Given the description of an element on the screen output the (x, y) to click on. 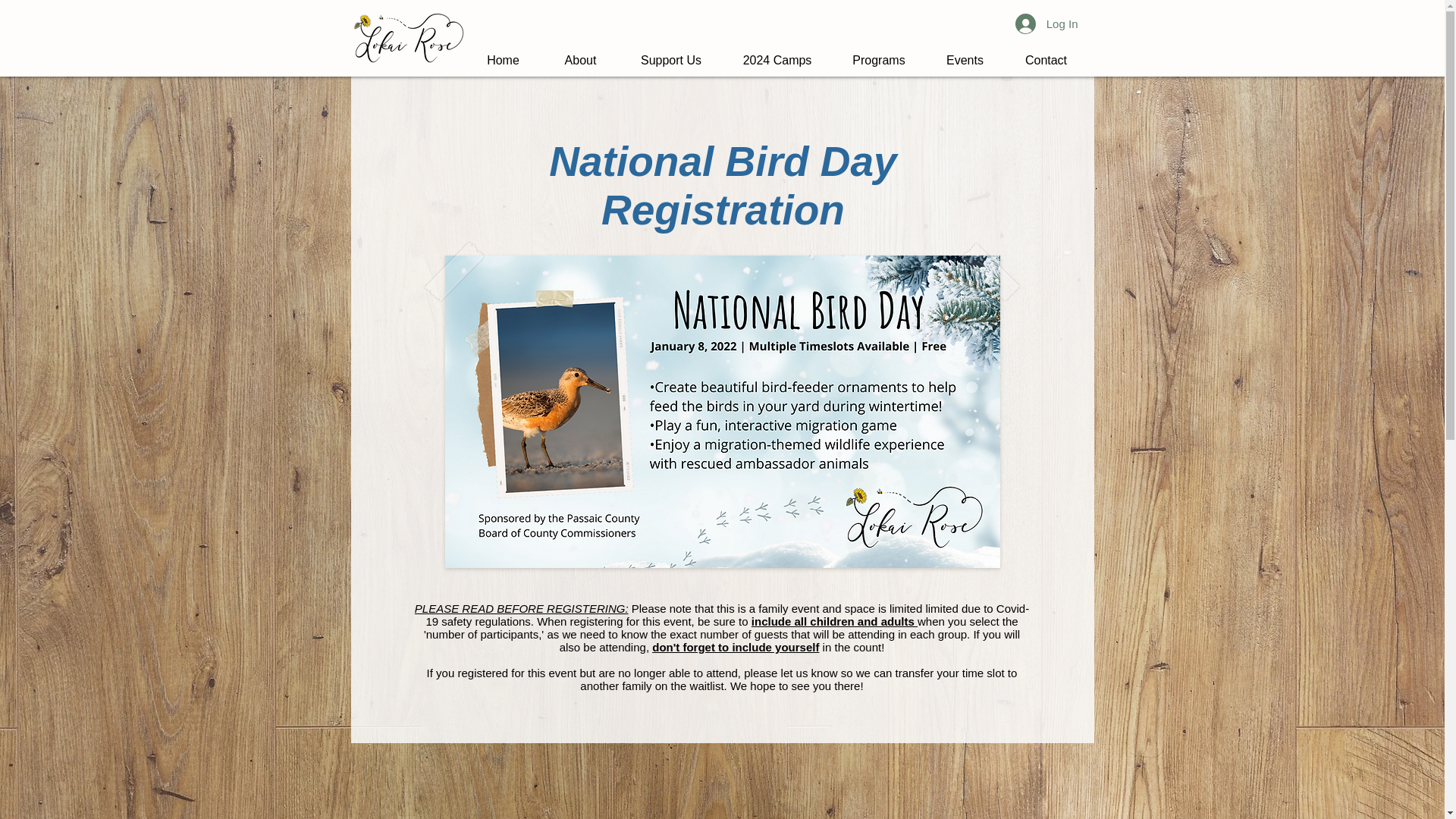
Support Us (670, 53)
About (579, 53)
Log In (1046, 23)
Home (502, 53)
Programs (878, 53)
Contact (1046, 53)
2024 Camps (777, 53)
Events (965, 53)
